Given the description of an element on the screen output the (x, y) to click on. 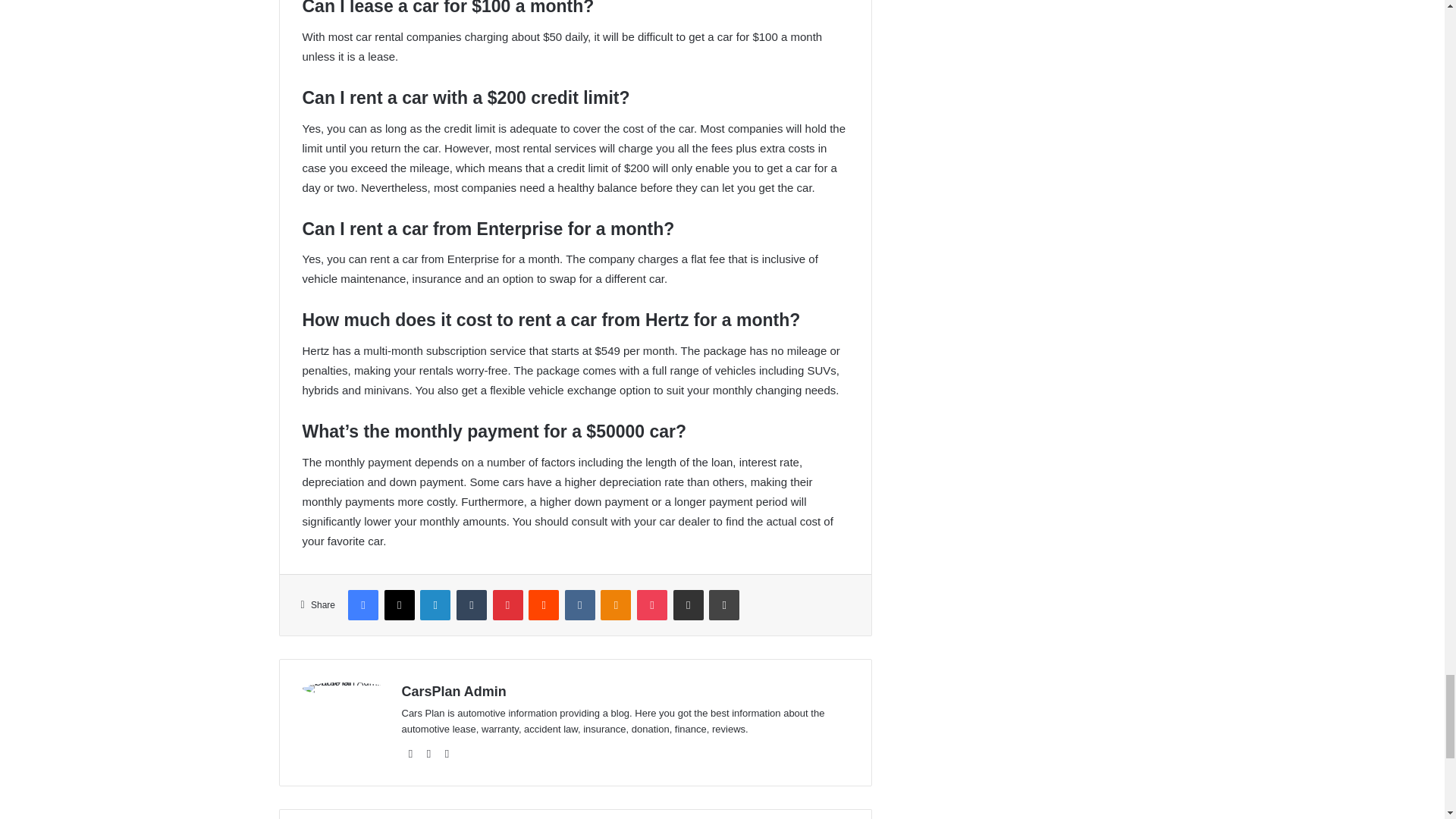
Facebook (362, 604)
X (399, 604)
Tumblr (471, 604)
Tumblr (471, 604)
X (399, 604)
Pinterest (507, 604)
Facebook (362, 604)
LinkedIn (434, 604)
LinkedIn (434, 604)
